Given the description of an element on the screen output the (x, y) to click on. 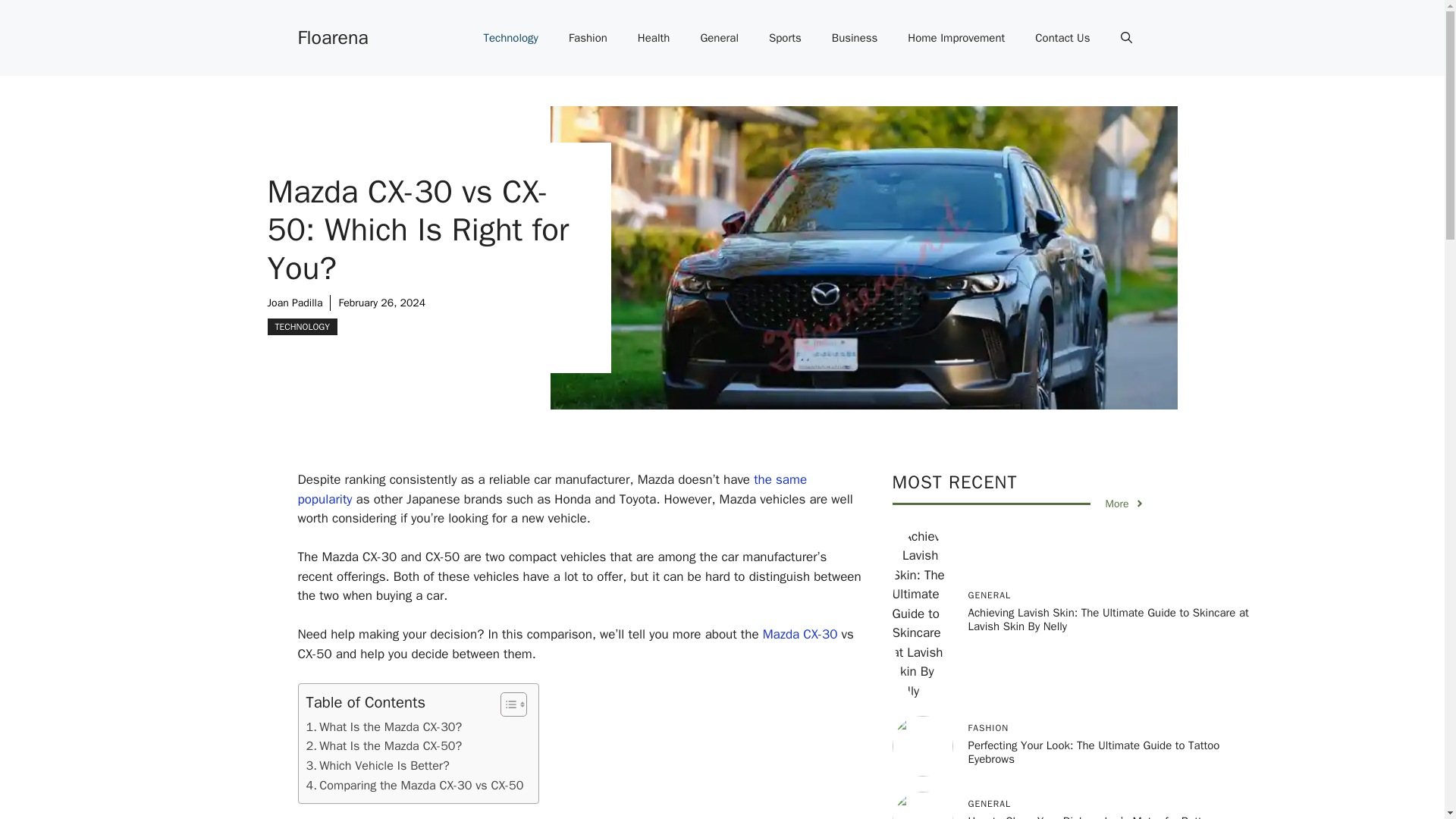
More (1124, 503)
Technology (510, 37)
Joan Padilla (293, 302)
Business (854, 37)
What Is the Mazda CX-50? (384, 745)
Perfecting Your Look: The Ultimate Guide to Tattoo Eyebrows (1094, 751)
Comparing the Mazda CX-30 vs CX-50 (414, 785)
What Is the Mazda CX-30? (384, 727)
What Is the Mazda CX-30? (384, 727)
What Is the Mazda CX-50? (384, 745)
Fashion (588, 37)
Mazda CX-30 (800, 634)
Sports (785, 37)
General (719, 37)
